Given the description of an element on the screen output the (x, y) to click on. 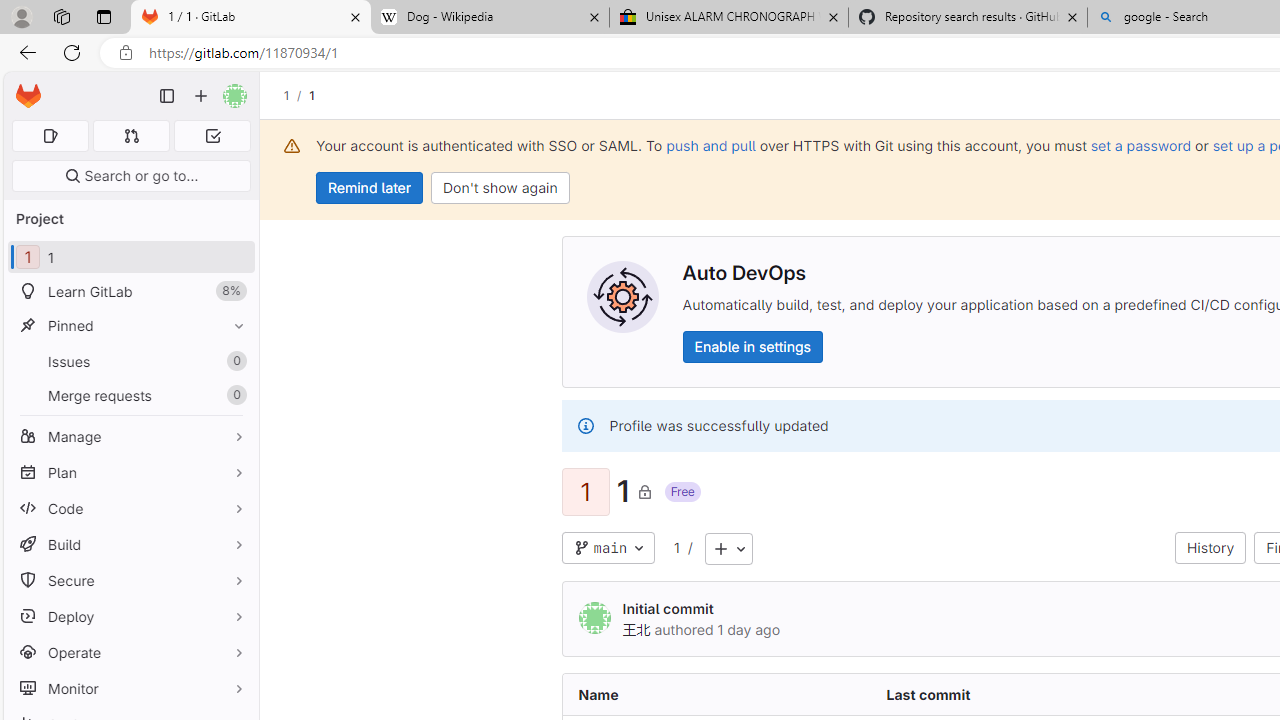
Merge requests 0 (130, 394)
main (607, 547)
Code (130, 507)
Deploy (130, 615)
Last commit (1024, 694)
Issues 0 (130, 361)
Build (130, 543)
Operate (130, 651)
Build (130, 543)
Class: s16 gl-alert-icon gl-alert-icon-no-title (585, 426)
1/ (296, 95)
Dog - Wikipedia (490, 17)
1 (676, 548)
Unpin Merge requests (234, 395)
